Given the description of an element on the screen output the (x, y) to click on. 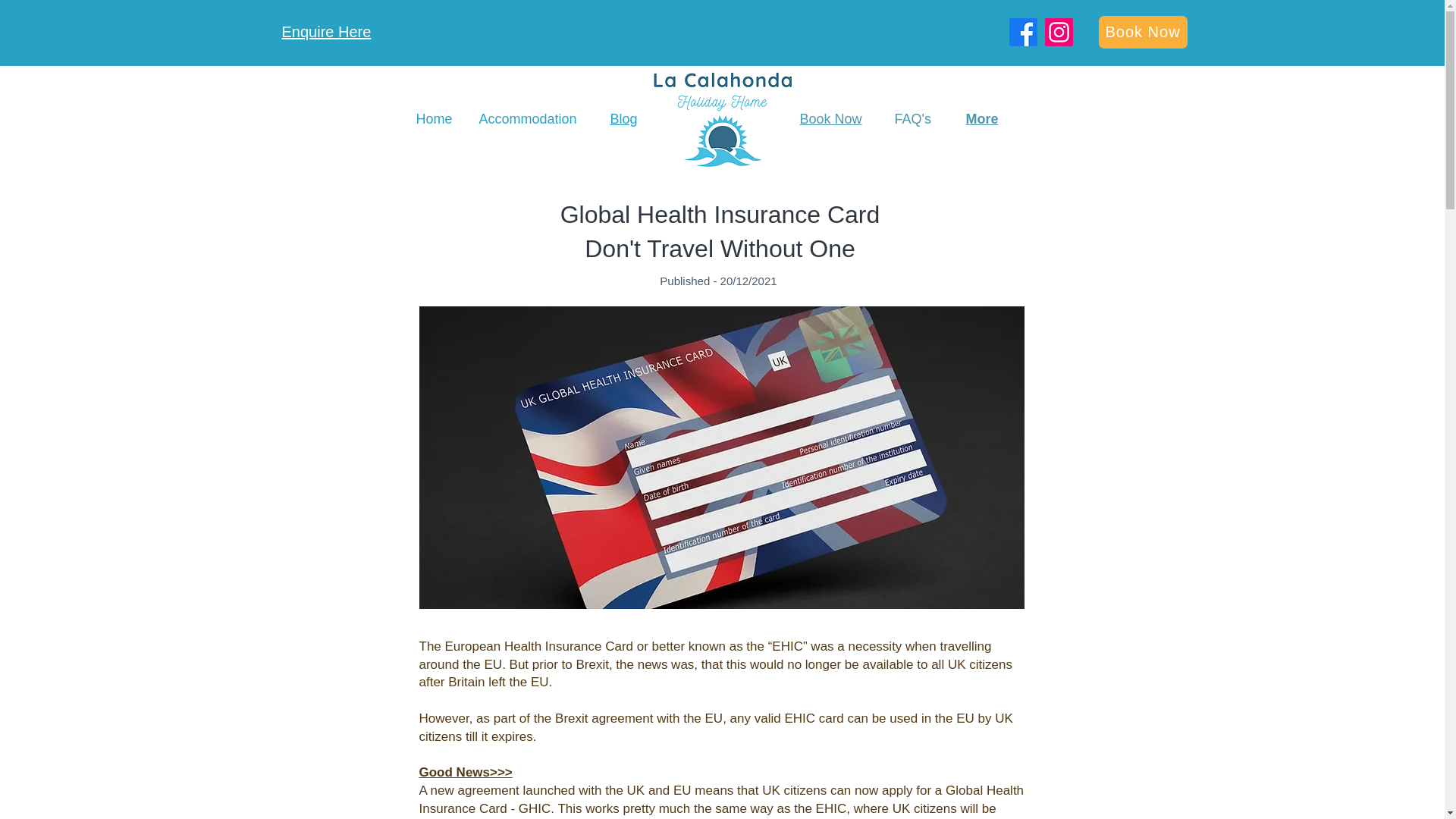
Book Now (830, 118)
Enquire Here (326, 31)
FAQ's (913, 118)
More (982, 118)
Book Now (1141, 31)
Lacala 3 trans back .png (721, 119)
Accommodation (527, 118)
Home (432, 118)
Blog (623, 118)
